Given the description of an element on the screen output the (x, y) to click on. 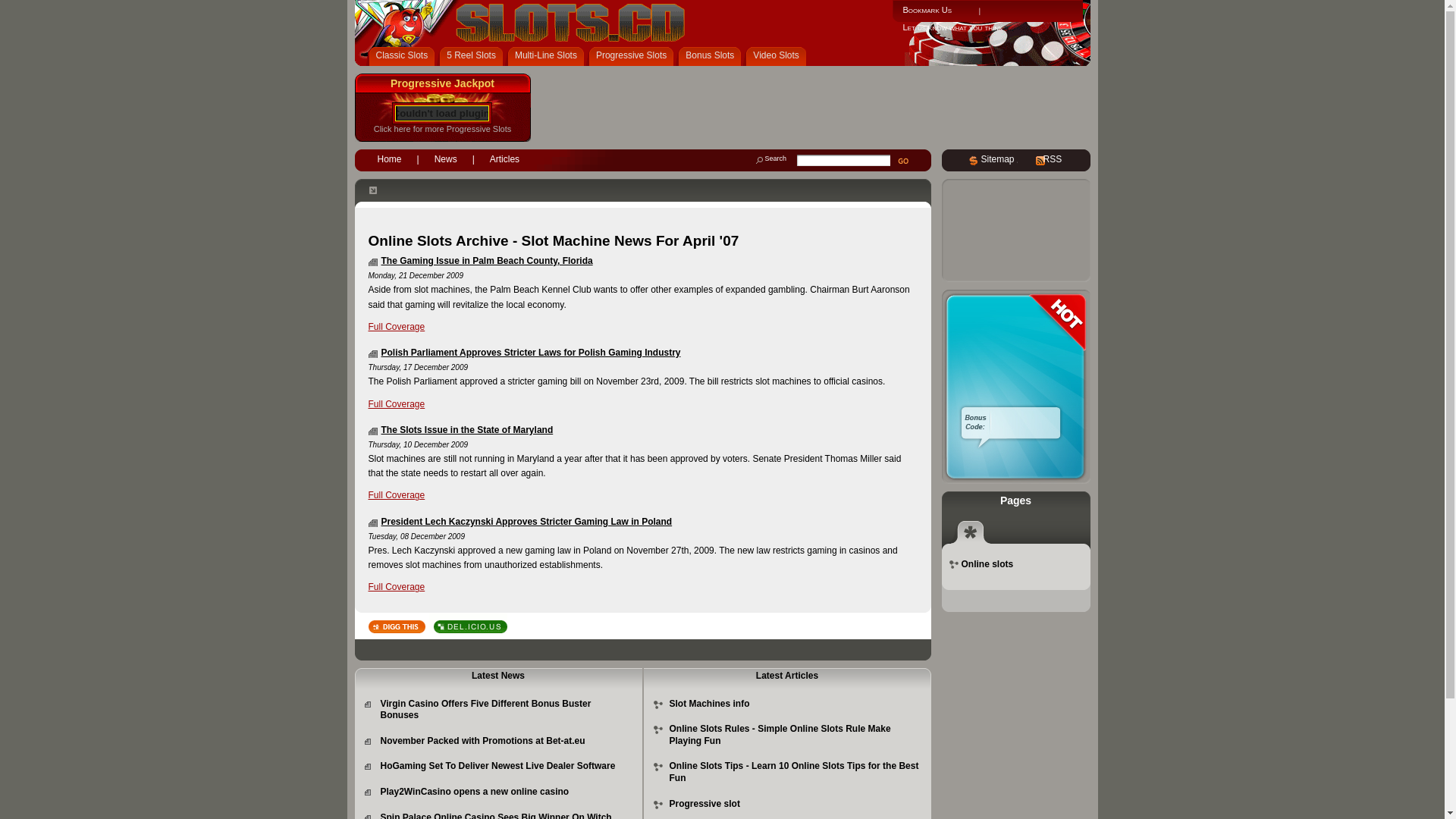
Virgin Casino Offers Five Different Bonus Buster Bonuses Element type: text (485, 709)
RSS Element type: text (1052, 159)
Full Coverage Element type: text (396, 326)
Bookmark Us Element type: text (926, 9)
Slot Machines info Element type: text (708, 703)
Online slots Element type: text (987, 563)
Video Slots Element type: text (778, 56)
Progressive slot Element type: text (703, 803)
5 Reel Slots Element type: text (473, 56)
News Element type: text (445, 157)
Full Coverage Element type: text (396, 586)
Full Coverage Element type: text (396, 403)
HoGaming Set To Deliver Newest Live Dealer Software Element type: text (497, 765)
Bonus Slots Element type: text (712, 56)
November Packed with Promotions at Bet-at.eu Element type: text (482, 740)
Full Coverage Element type: text (396, 494)
The Slots Issue in the State of Maryland Element type: text (466, 429)
Articles Element type: text (504, 157)
Play2WinCasino opens a new online casino Element type: text (474, 791)
The Gaming Issue in Palm Beach County, Florida Element type: text (486, 260)
Home Element type: text (389, 157)
Let us know what you think Element type: text (952, 26)
Progressive Slots Element type: text (633, 56)
Multi-Line Slots Element type: text (548, 56)
Classic Slots Element type: text (404, 56)
Sitemap Element type: text (997, 159)
